Given the description of an element on the screen output the (x, y) to click on. 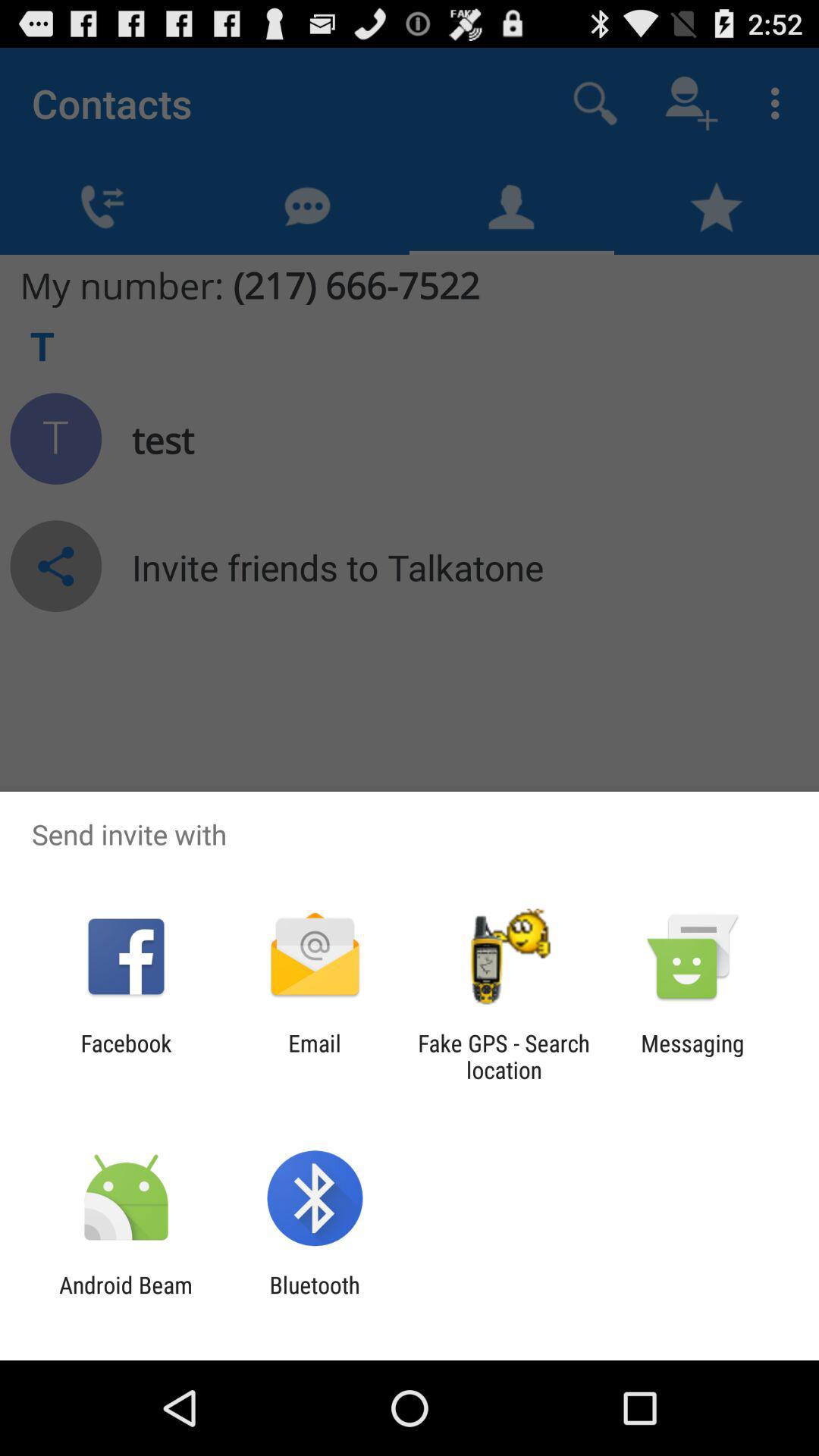
turn off app next to the android beam item (314, 1298)
